Given the description of an element on the screen output the (x, y) to click on. 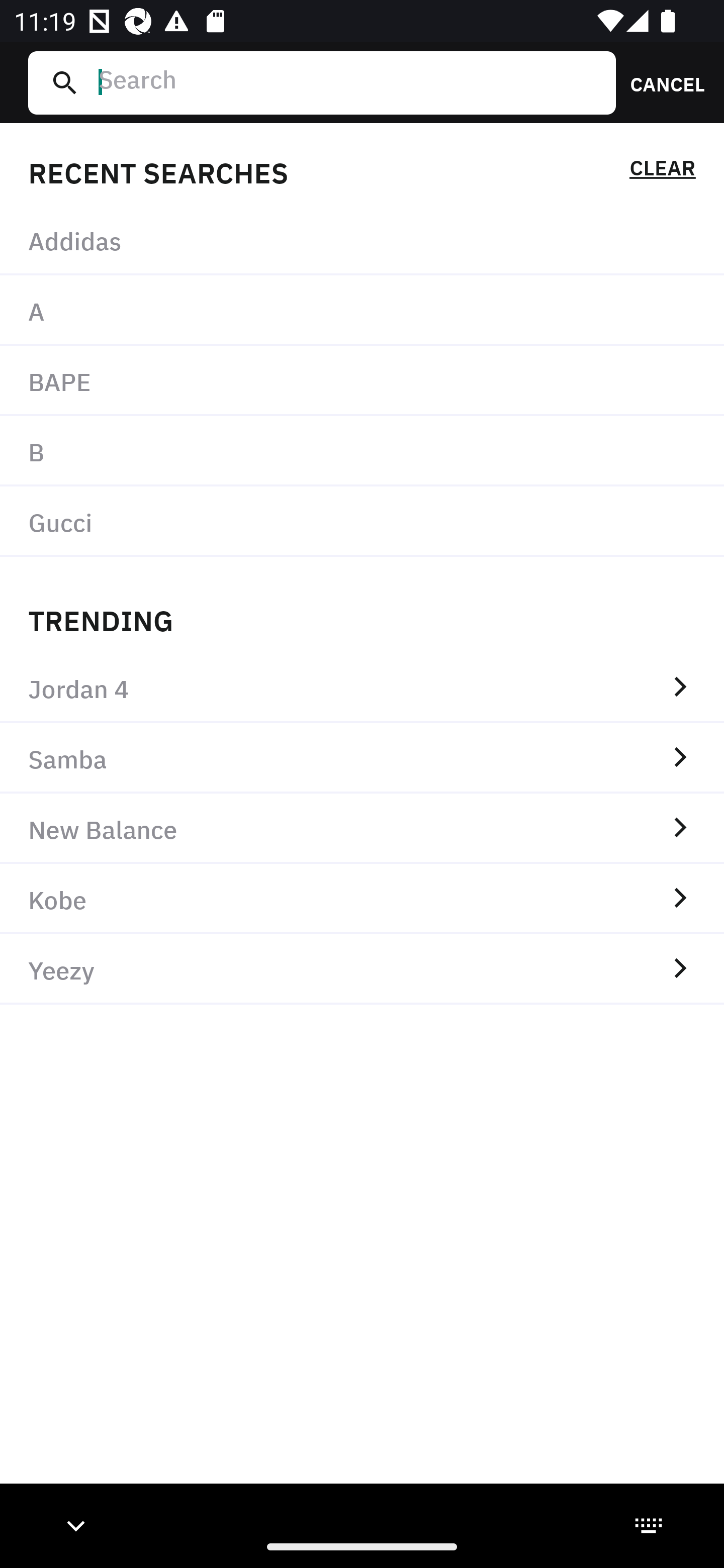
CANCEL (660, 82)
Search (349, 82)
CLEAR (662, 170)
Addidas (362, 240)
A (362, 310)
BAPE (362, 380)
B (362, 450)
Gucci (362, 521)
Jordan 4  (362, 687)
Samba  (362, 757)
New Balance  (362, 828)
Kobe  (362, 898)
Yeezy  (362, 969)
